Given the description of an element on the screen output the (x, y) to click on. 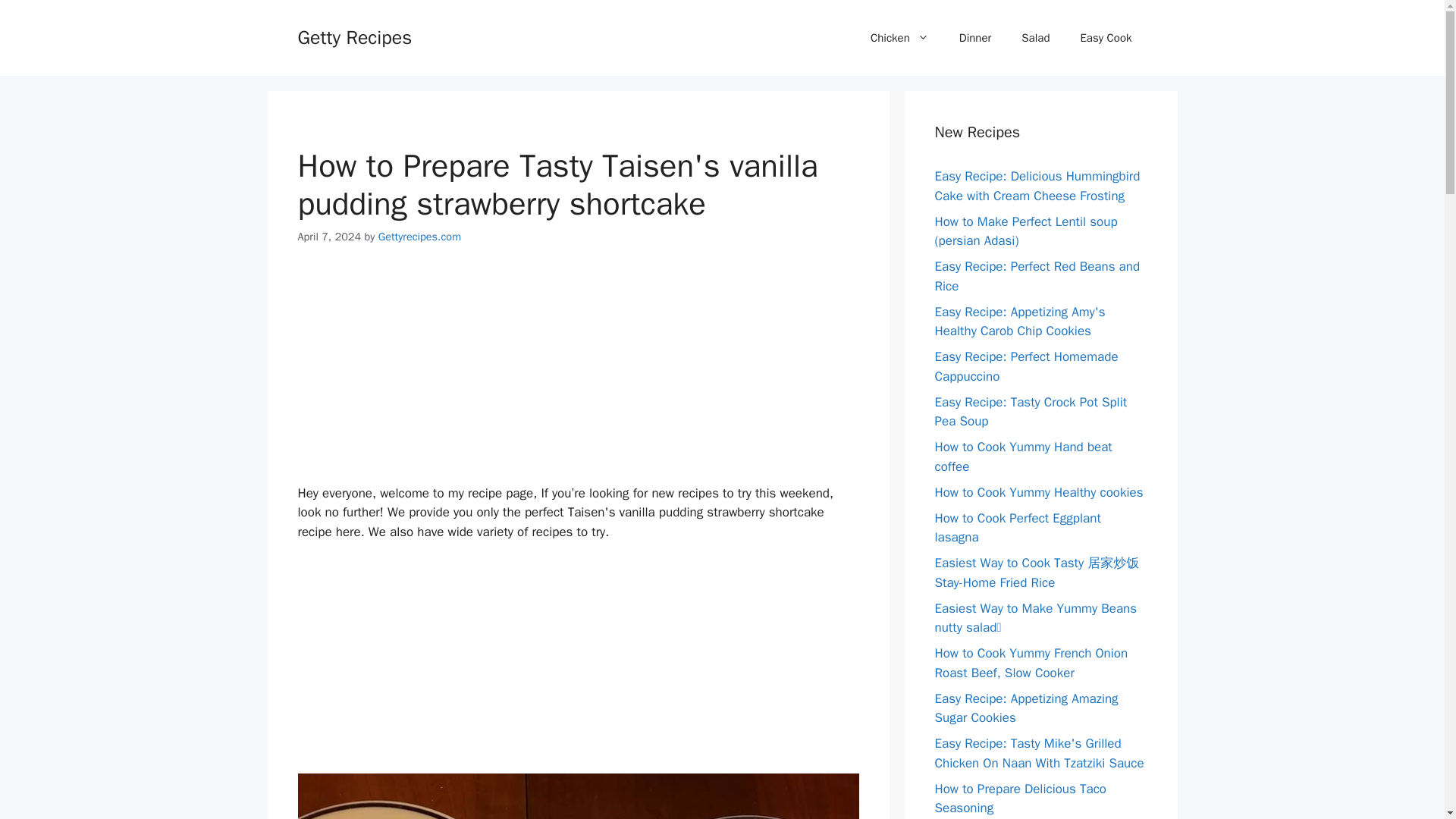
Easy Cook (1105, 37)
Chicken (899, 37)
Gettyrecipes.com (419, 236)
View all posts by Gettyrecipes.com (419, 236)
Easy Recipe: Perfect Homemade Cappuccino (1026, 366)
Advertisement (578, 377)
Easy Recipe: Perfect Red Beans and Rice (1037, 276)
Dinner (975, 37)
Easy Recipe: Appetizing Amy's Healthy Carob Chip Cookies (1019, 321)
